Given the description of an element on the screen output the (x, y) to click on. 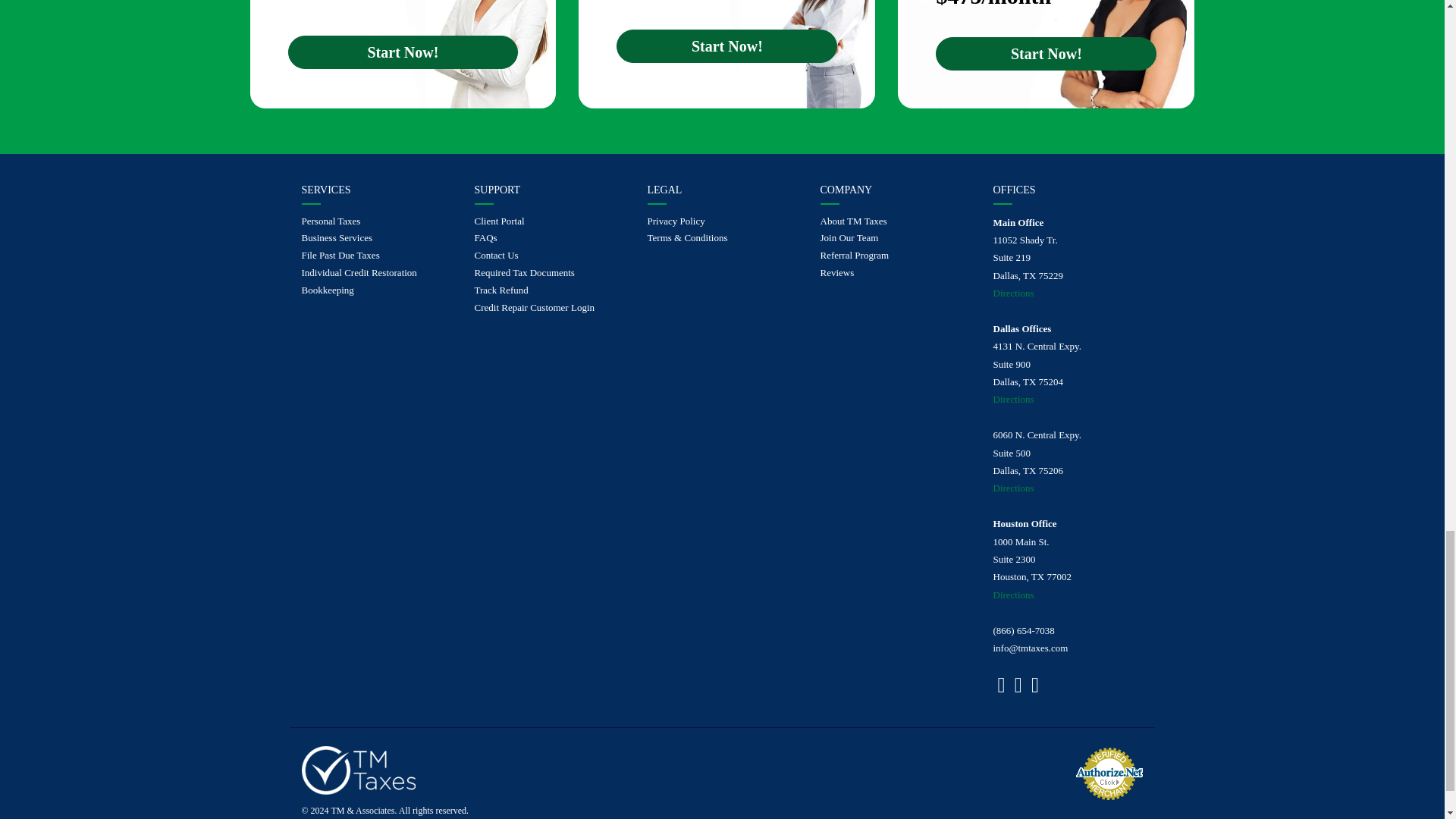
Individual Credit Restoration (376, 273)
Business Services (376, 238)
Contact Us (549, 255)
Credit Repair Customer Login (549, 308)
About TM Taxes (896, 221)
Start Now! (1046, 53)
Track Refund (549, 290)
Required Tax Documents (549, 273)
FAQs (549, 238)
Start Now! (726, 46)
